Given the description of an element on the screen output the (x, y) to click on. 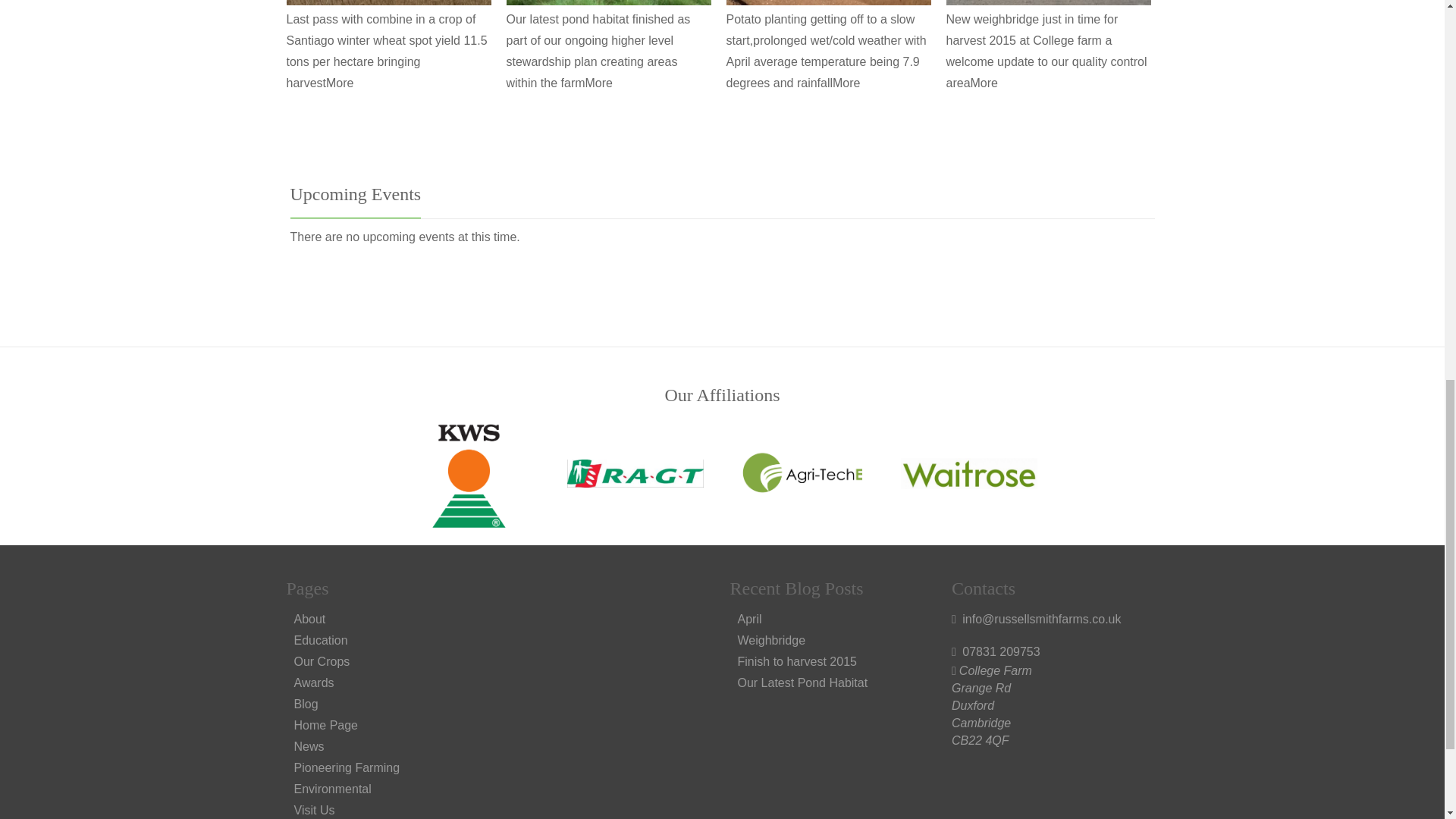
Agri-Tech East (801, 472)
RAGT (635, 473)
Waitrose (969, 472)
